Given the description of an element on the screen output the (x, y) to click on. 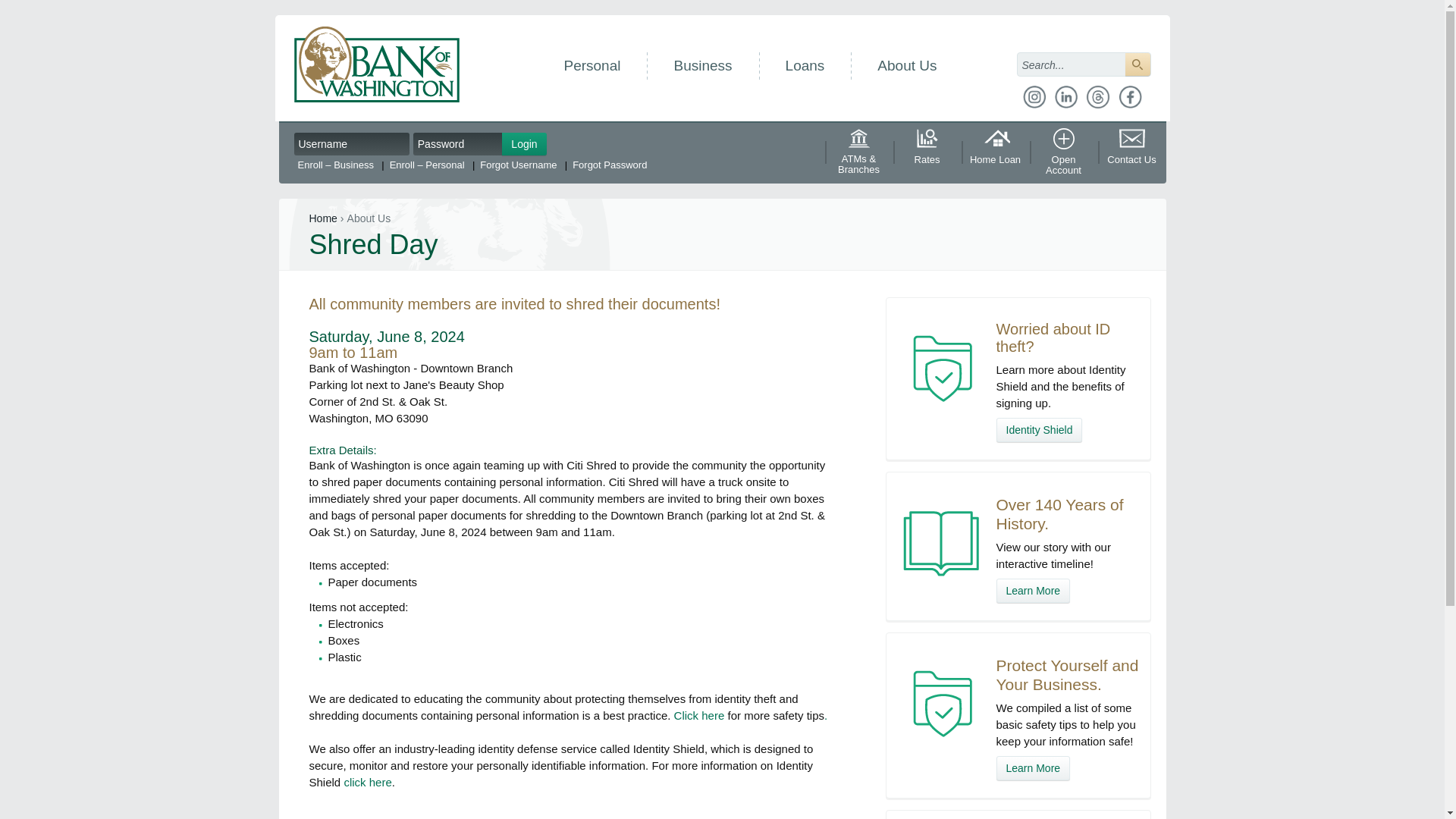
Home Loan (994, 152)
Enroll (334, 165)
Rates (926, 152)
Open Account (1063, 152)
Enroll (420, 165)
Contact Us (1131, 152)
